Given the description of an element on the screen output the (x, y) to click on. 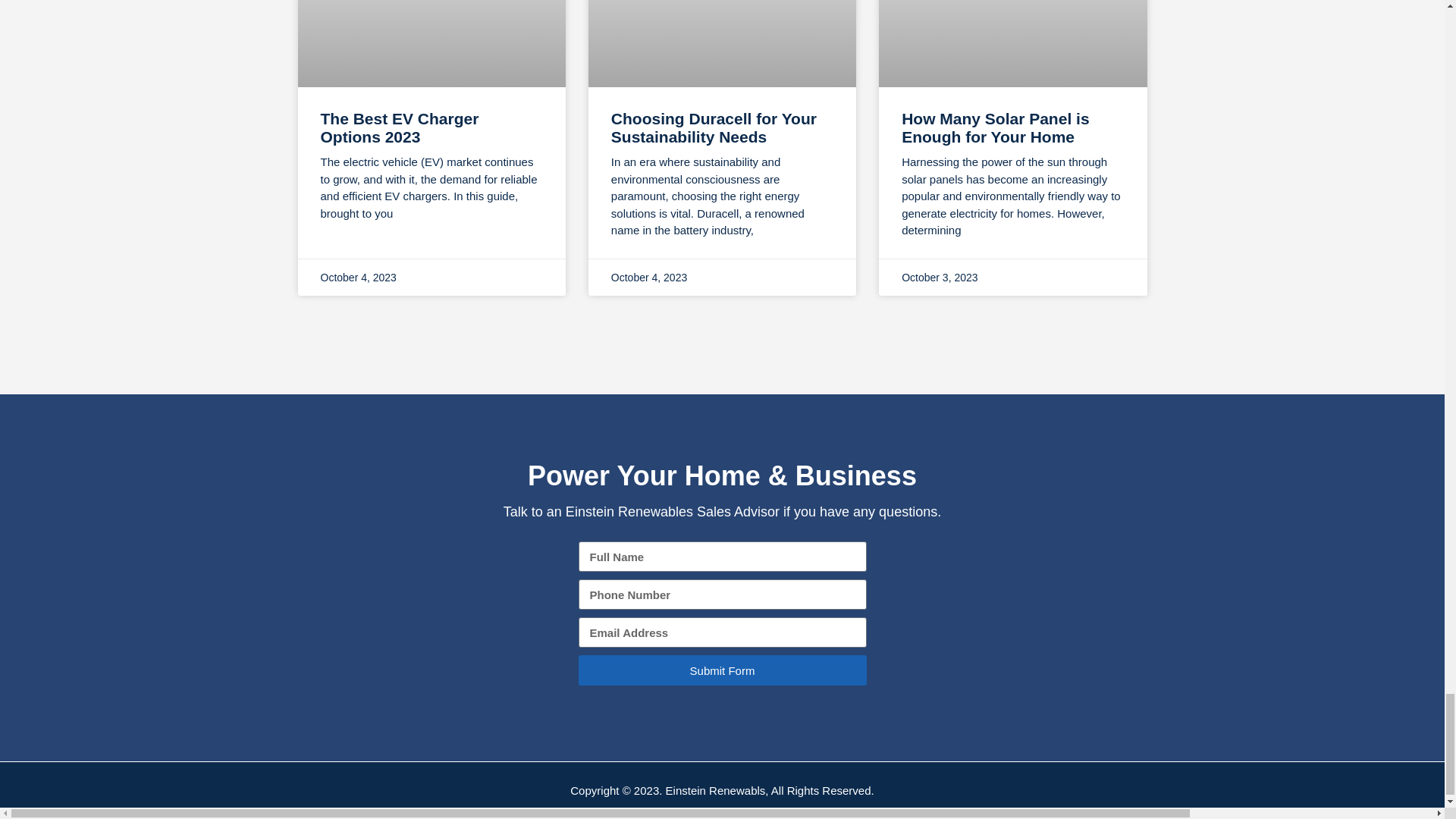
Choosing Duracell for Your Sustainability Needs (713, 127)
How Many Solar Panel is Enough for Your Home (995, 127)
The Best EV Charger Options 2023 (399, 127)
Submit Form (722, 670)
